Given the description of an element on the screen output the (x, y) to click on. 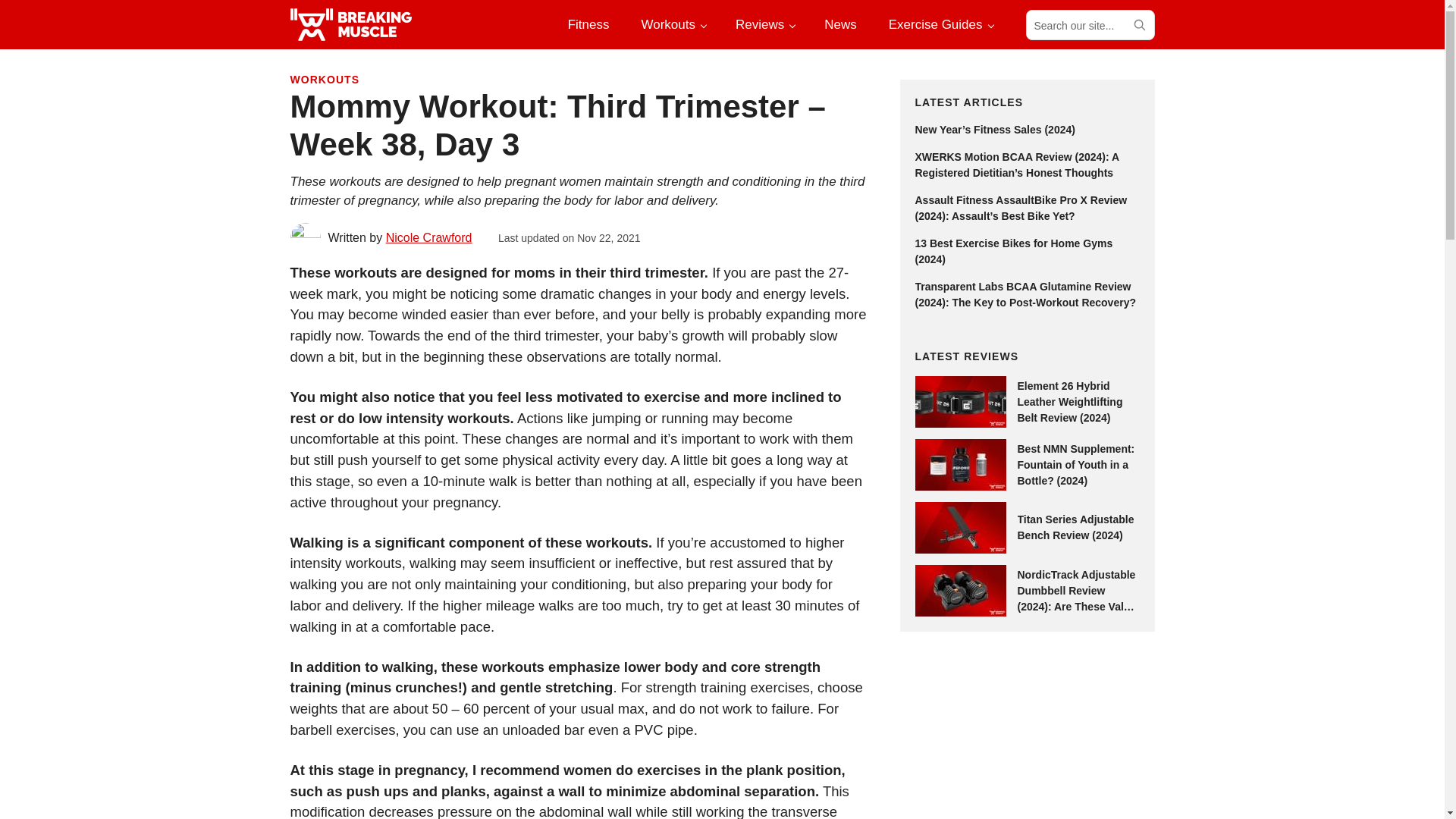
Submit search (1138, 24)
Reviews (764, 24)
Submit search (1138, 24)
Fitness (588, 24)
Workouts (672, 24)
